Given the description of an element on the screen output the (x, y) to click on. 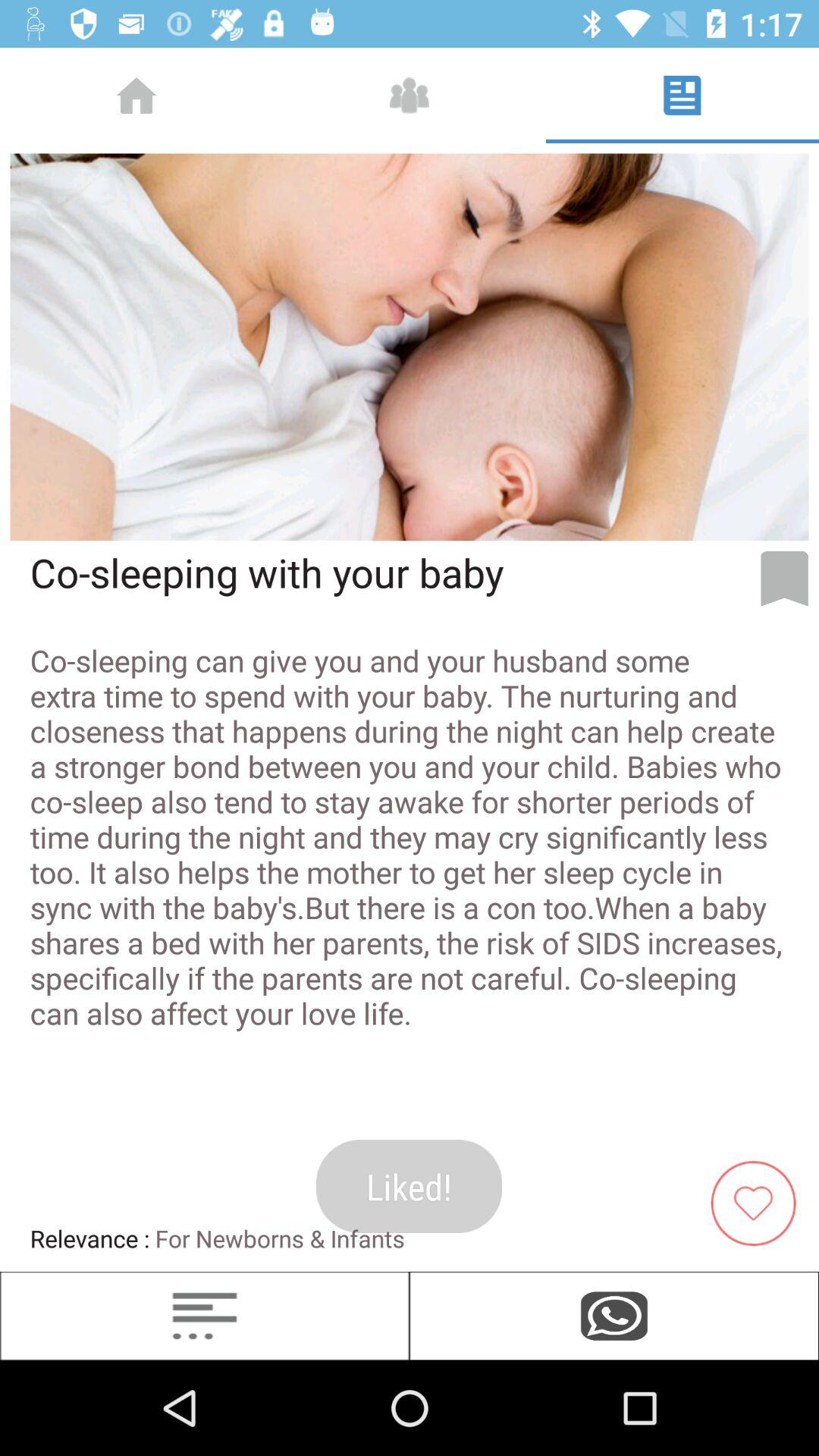
click the item to the right of the co sleeping with (784, 578)
